Given the description of an element on the screen output the (x, y) to click on. 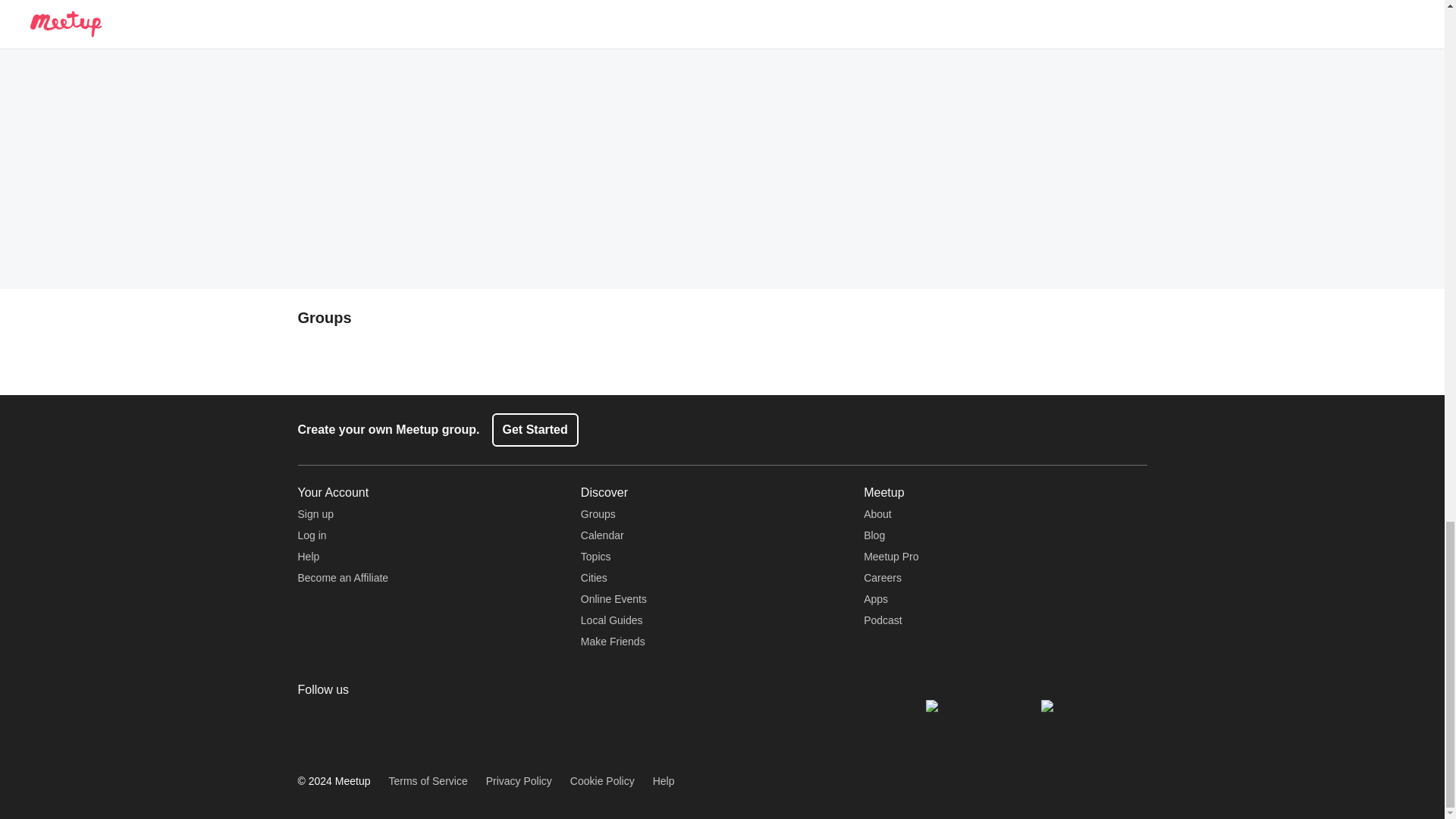
About (877, 513)
Local Guides (611, 620)
Calendar (602, 535)
Get Started (535, 429)
Topics (595, 556)
Apps (875, 598)
Groups (597, 513)
Cookie Policy (602, 780)
Careers (882, 577)
Log in (311, 535)
Sign up (315, 513)
Online Events (613, 598)
Become an Affiliate (342, 577)
Make Friends (612, 641)
Privacy Policy (518, 780)
